Given the description of an element on the screen output the (x, y) to click on. 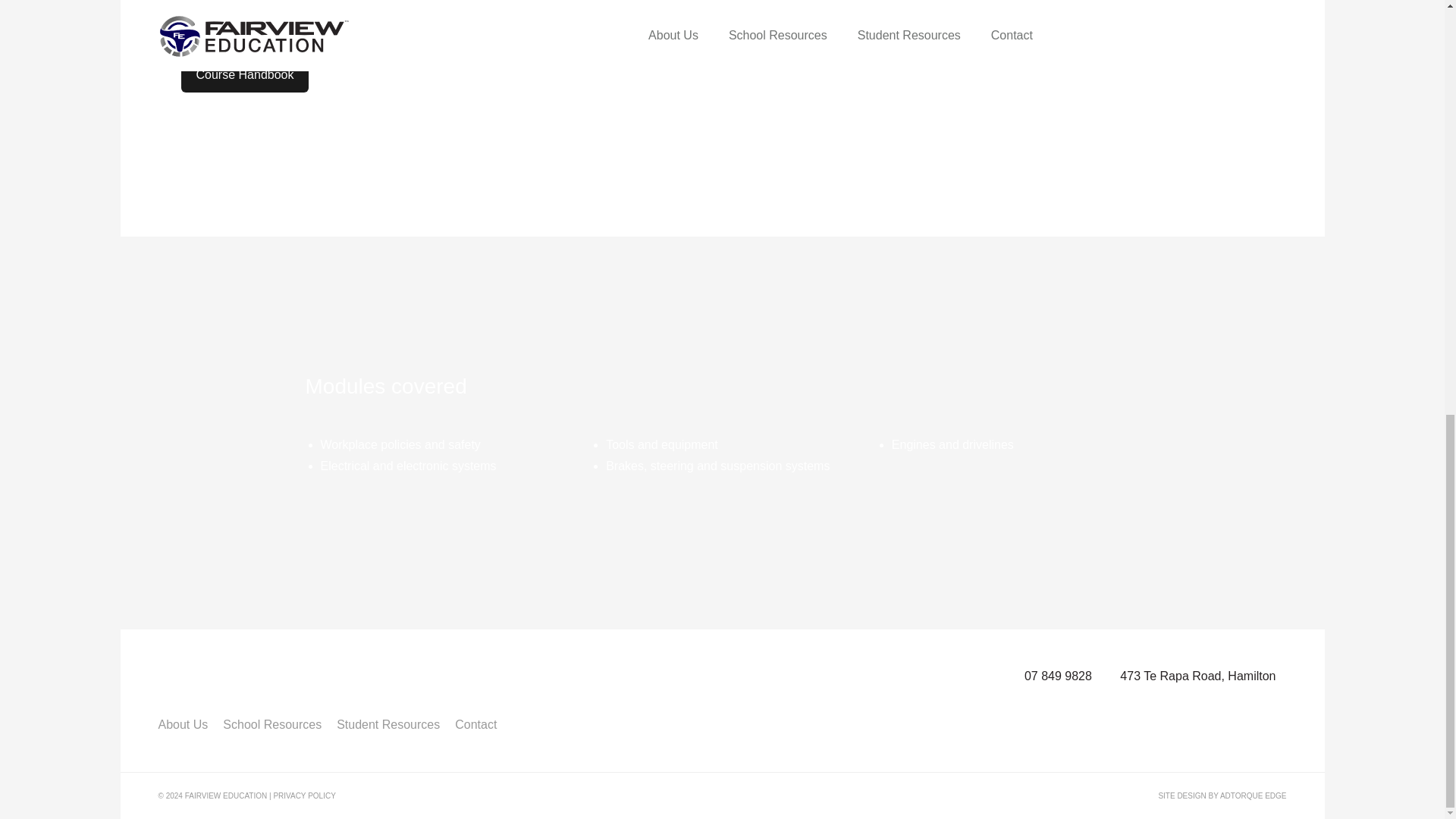
Contact (475, 724)
PRIVACY POLICY (303, 795)
07 849 9828 (1058, 675)
Course Handbook (244, 73)
473 Te Rapa Road, Hamilton (1197, 675)
About Us (182, 724)
School Resources (271, 724)
SITE DESIGN BY ADTORQUE EDGE (1221, 795)
Student Resources (387, 724)
